Given the description of an element on the screen output the (x, y) to click on. 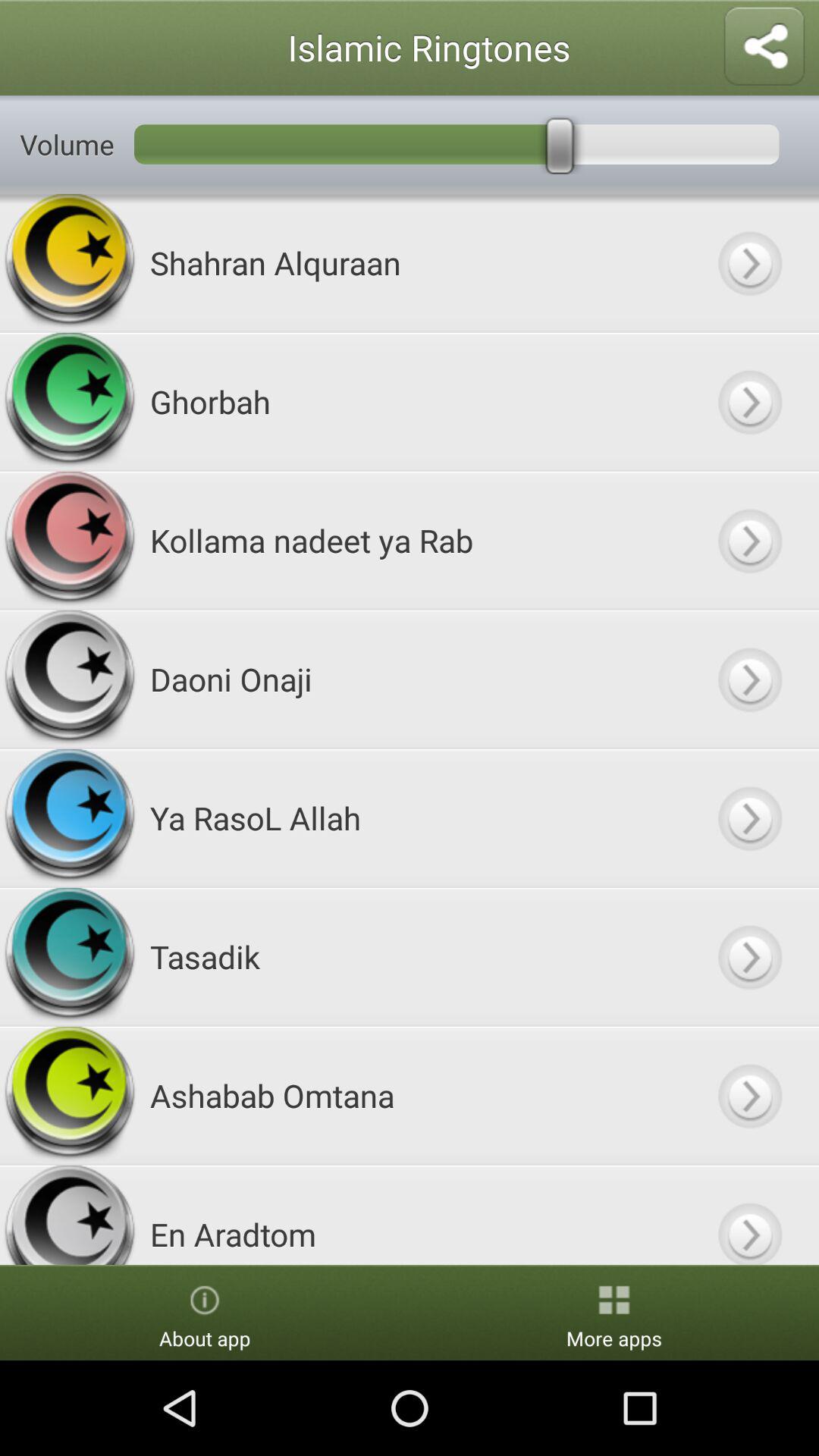
play button (749, 1214)
